Given the description of an element on the screen output the (x, y) to click on. 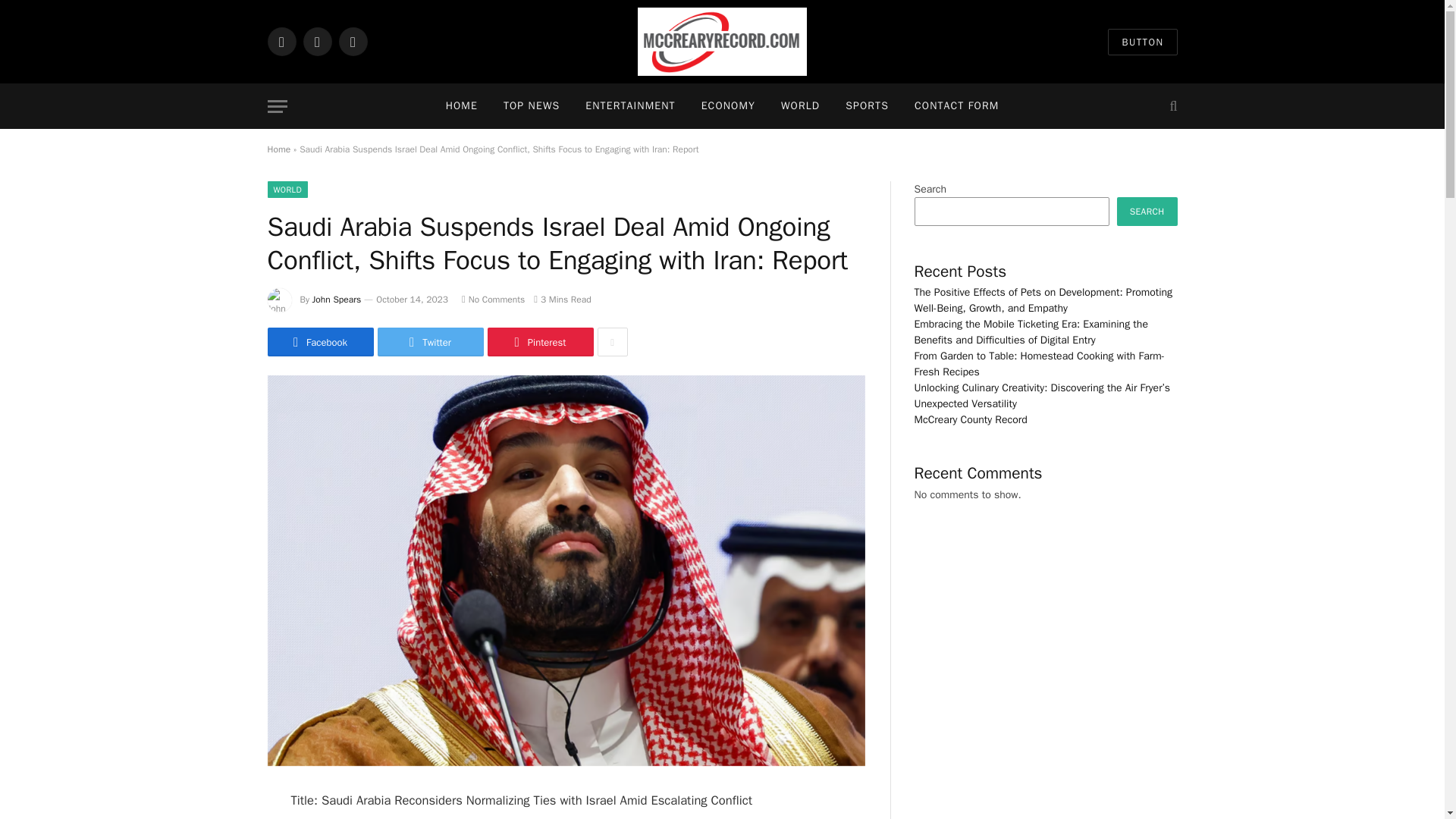
WORLD (286, 189)
ENTERTAINMENT (629, 105)
No Comments (492, 299)
Pinterest (539, 341)
WORLD (800, 105)
Share on Pinterest (539, 341)
Instagram (351, 41)
John Spears (337, 299)
McCreary County Record (721, 41)
HOME (461, 105)
Twitter (430, 341)
ECONOMY (728, 105)
Share on Facebook (319, 341)
Facebook (319, 341)
